Given the description of an element on the screen output the (x, y) to click on. 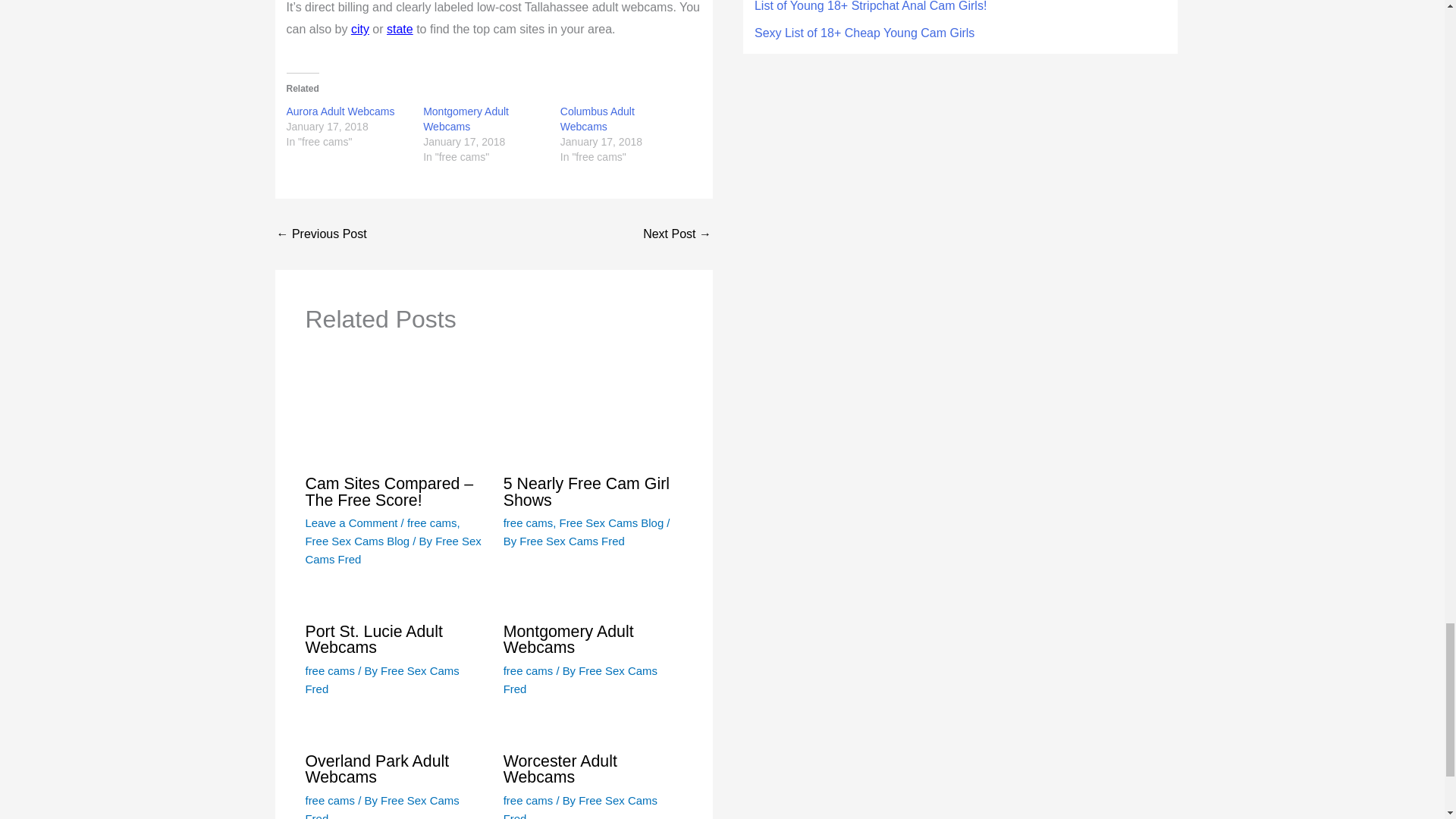
Port St. Lucie Adult Webcams (321, 234)
View all posts by Free Sex Cams Fred (580, 679)
Montgomery  Adult Webcams (465, 118)
View all posts by Free Sex Cams Fred (392, 549)
View all posts by Free Sex Cams Fred (381, 679)
San Diego Adult Webcams (677, 234)
Columbus  Adult Webcams (597, 118)
View all posts by Free Sex Cams Fred (571, 540)
View all posts by Free Sex Cams Fred (580, 806)
View all posts by Free Sex Cams Fred (381, 806)
Aurora  Adult Webcams (340, 111)
